Given the description of an element on the screen output the (x, y) to click on. 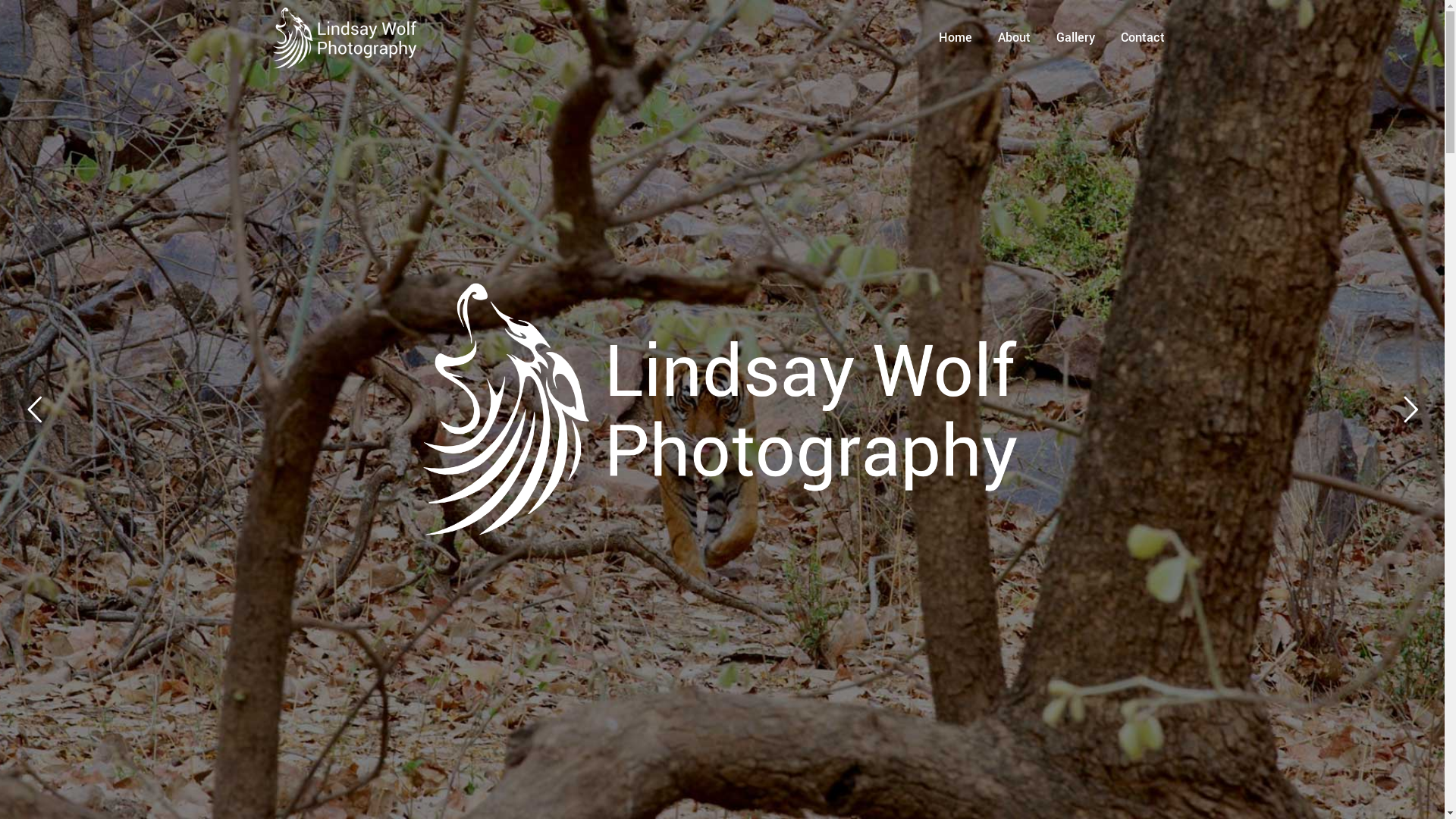
Home Element type: text (954, 37)
About Element type: text (1013, 37)
Contact Element type: text (1141, 37)
Gallery Element type: text (1075, 37)
